Given the description of an element on the screen output the (x, y) to click on. 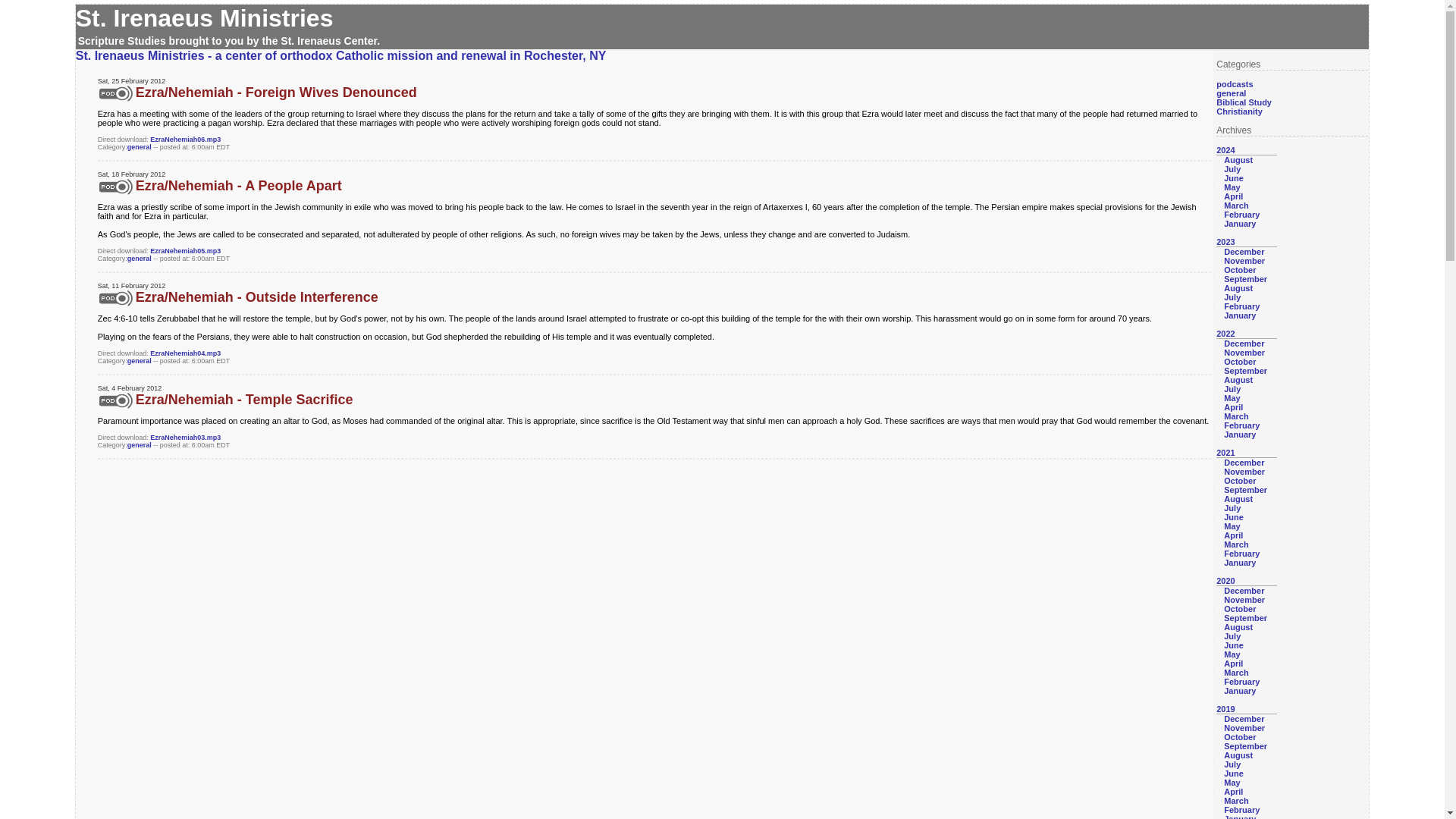
October (1239, 269)
March (1235, 415)
February (1241, 424)
October (1239, 361)
2023 (1224, 241)
December (1243, 461)
July (1232, 388)
April (1233, 195)
March (1235, 204)
January (1239, 433)
